Given the description of an element on the screen output the (x, y) to click on. 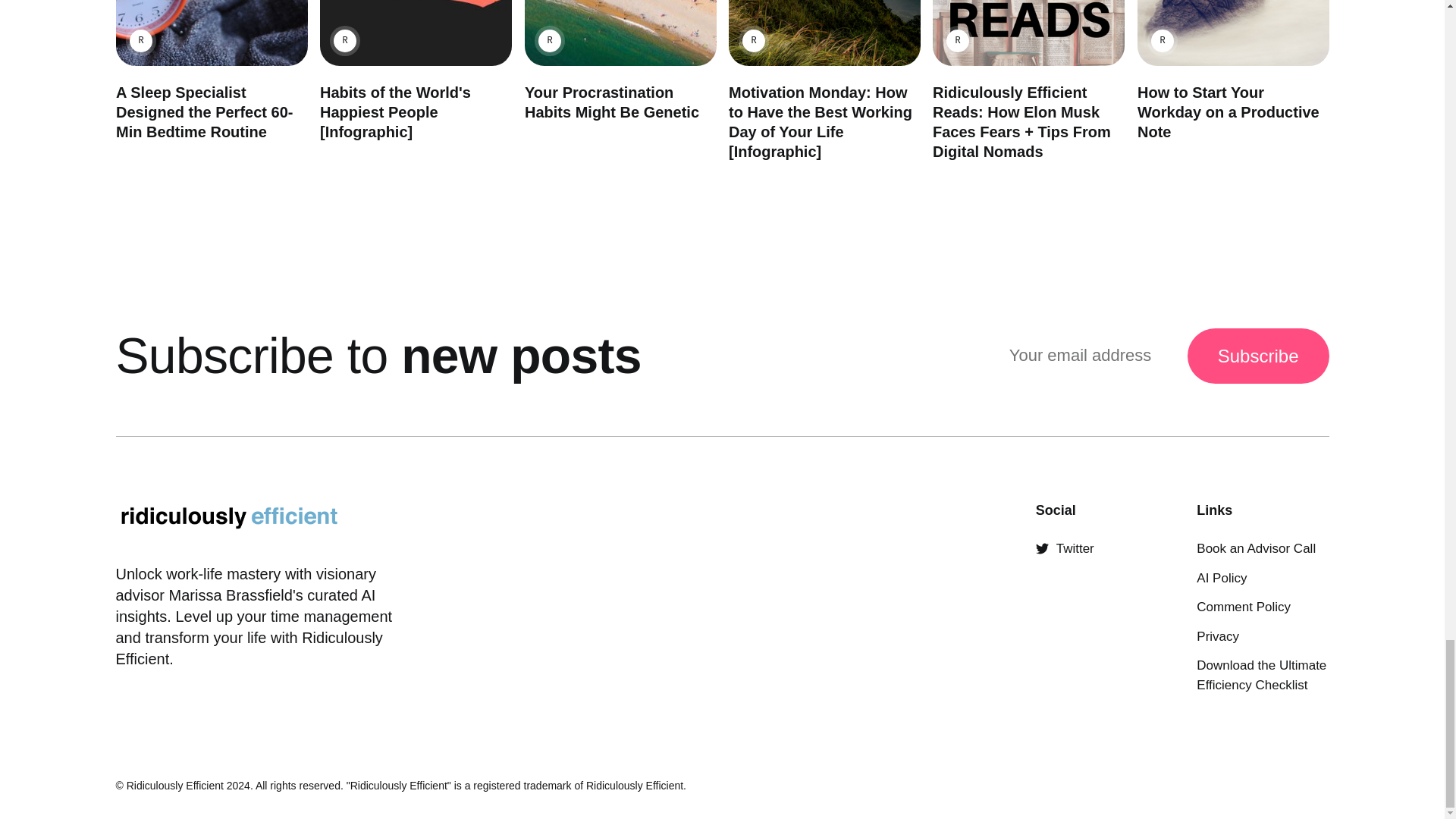
Rosemina Nazarali (344, 40)
Rosemina Nazarali (957, 40)
Twitter (1064, 548)
Rosemina Nazarali (548, 40)
Your Procrastination Habits Might Be Genetic (611, 102)
Rosemina Nazarali (1161, 40)
Rosemina Nazarali (752, 40)
How to Start Your Workday on a Productive Note (1228, 112)
Subscribe (1258, 356)
Rosemina Nazarali (140, 40)
